Given the description of an element on the screen output the (x, y) to click on. 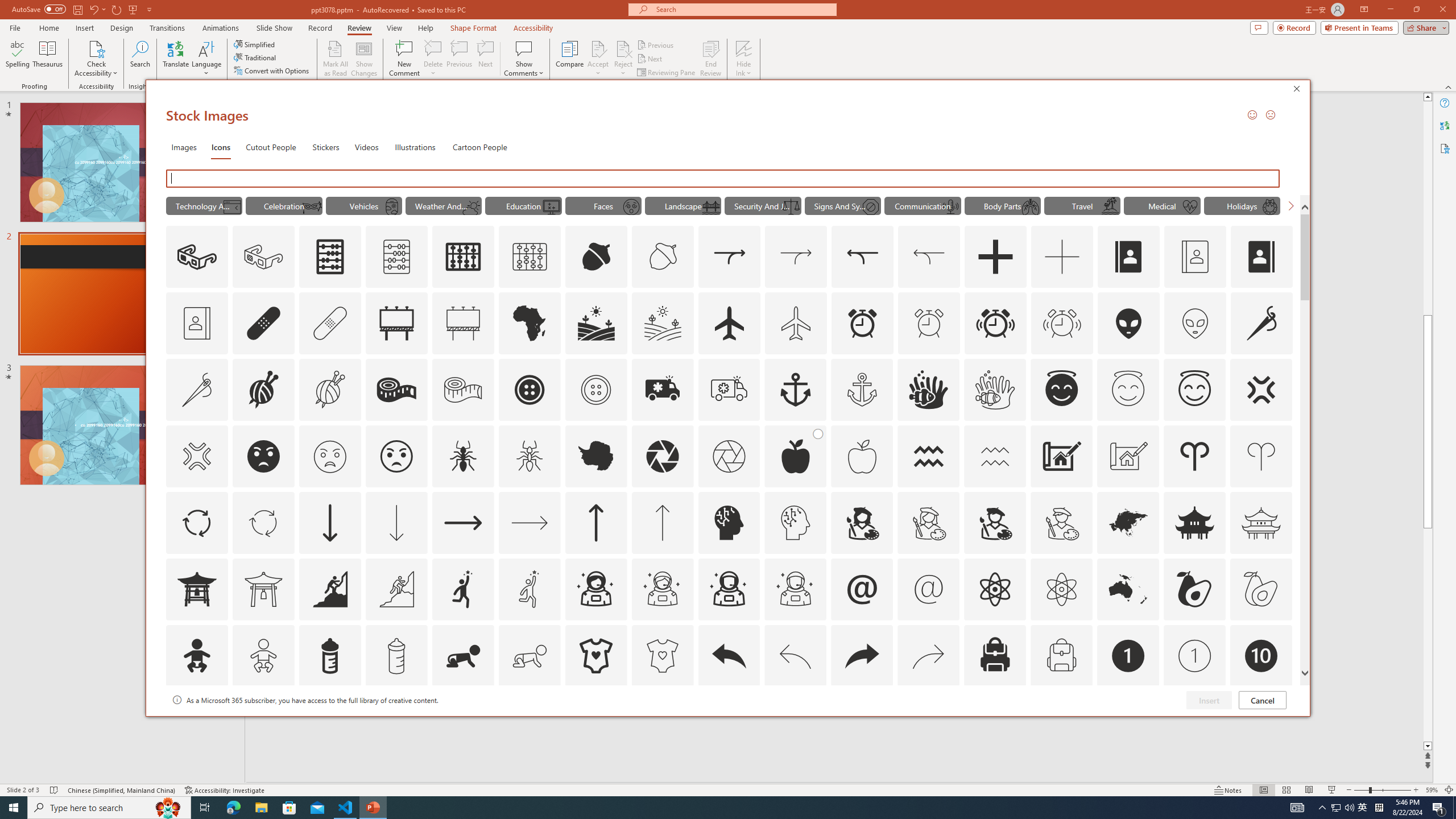
AutomationID: Icons_AstronautFemale_M (662, 588)
AutomationID: Icons_PartyMask_M (311, 206)
AutomationID: Icons_AsianTemple1_M (263, 588)
AutomationID: Icons_AngryFace_M (329, 455)
AutomationID: Icons_Airplane_M (796, 323)
Send a Frown (1269, 114)
AutomationID: Icons_AlterationsTailoring2 (395, 389)
AutomationID: Icons_StopSign_M (870, 206)
AutomationID: Icons_ArtistMale_M (1061, 522)
AutomationID: Icons_Acorn (596, 256)
AutomationID: Icons_AlterationsTailoring3_M (595, 389)
